Given the description of an element on the screen output the (x, y) to click on. 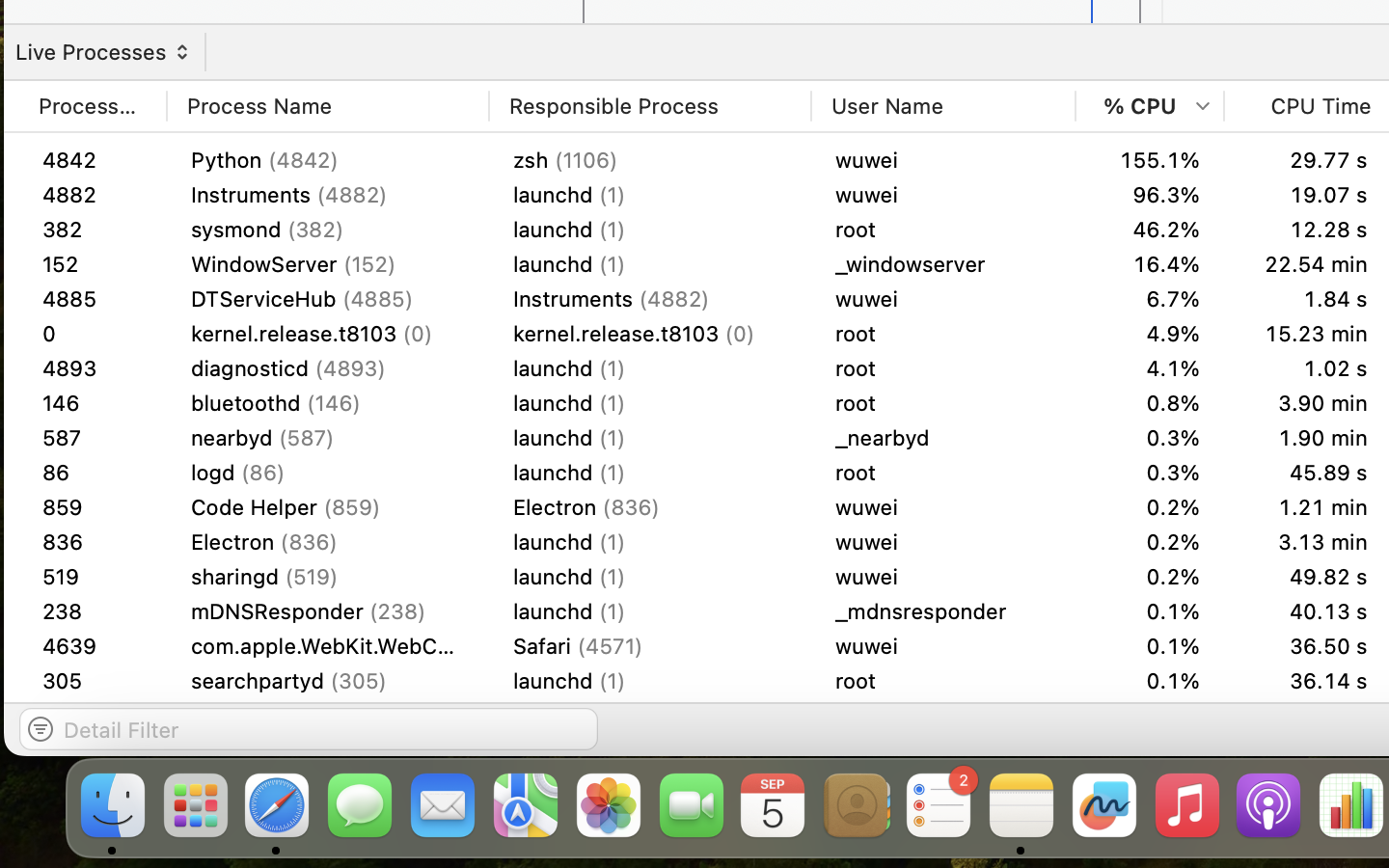
587 Element type: AXStaticText (92, 472)
diagnosticd (4893) Element type: AXStaticText (327, 367)
WindowServer (152) Element type: AXStaticText (327, 159)
92 Element type: AXStaticText (92, 333)
4842 Element type: AXStaticText (92, 159)
